Given the description of an element on the screen output the (x, y) to click on. 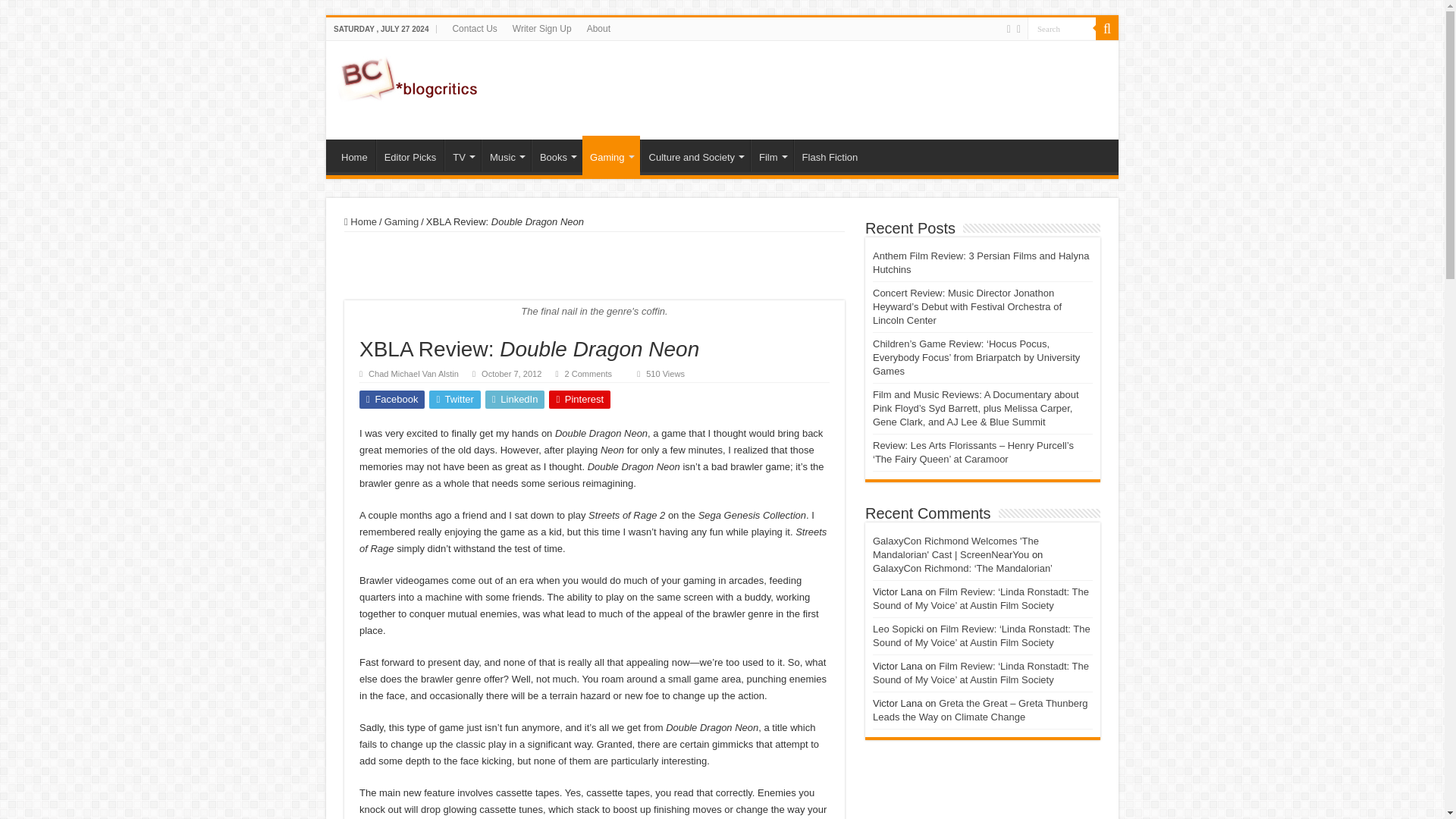
About (598, 28)
Contact Us (473, 28)
Facebook (1008, 29)
Search (1061, 28)
TV (462, 155)
Editor Picks (409, 155)
Blogcritics (409, 75)
Home (354, 155)
Music (506, 155)
Gaming (611, 155)
Search (1061, 28)
Writer Sign Up (542, 28)
Search (1107, 28)
Books (556, 155)
